Given the description of an element on the screen output the (x, y) to click on. 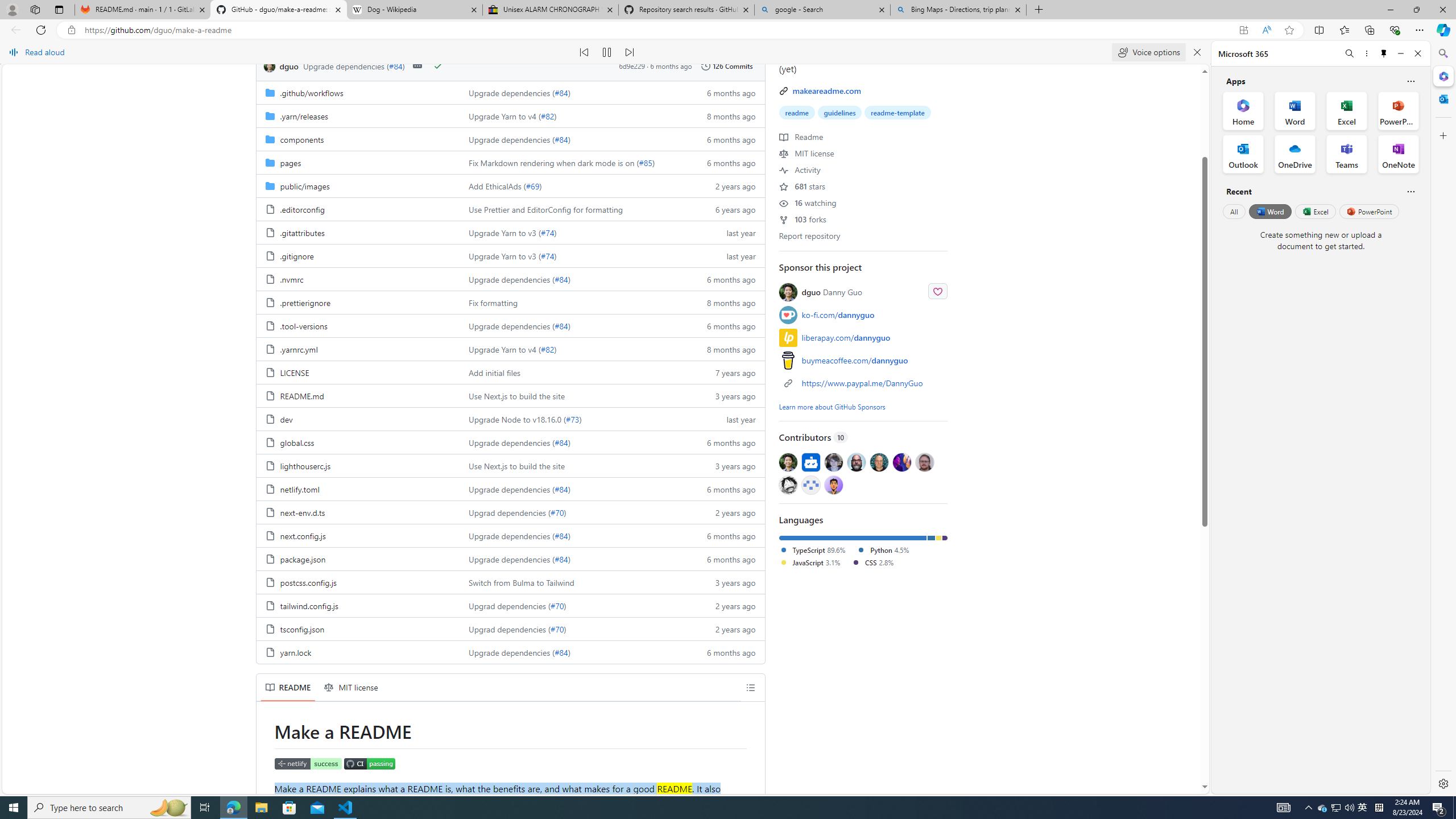
CI status (368, 764)
README (287, 687)
Upgrade dependencies (#84) (573, 651)
AutomationID: folder-row-9 (510, 301)
Word Office App (1295, 110)
makeareadme.com (826, 90)
CSS 2.8% (872, 561)
public/images, (Directory) (304, 185)
google - Search (822, 9)
Upgrade Yarn to v3 ( (504, 255)
.editorconfig, (File) (301, 208)
components, (Directory) (301, 138)
Class: mb-2 mr-2 (833, 484)
